Given the description of an element on the screen output the (x, y) to click on. 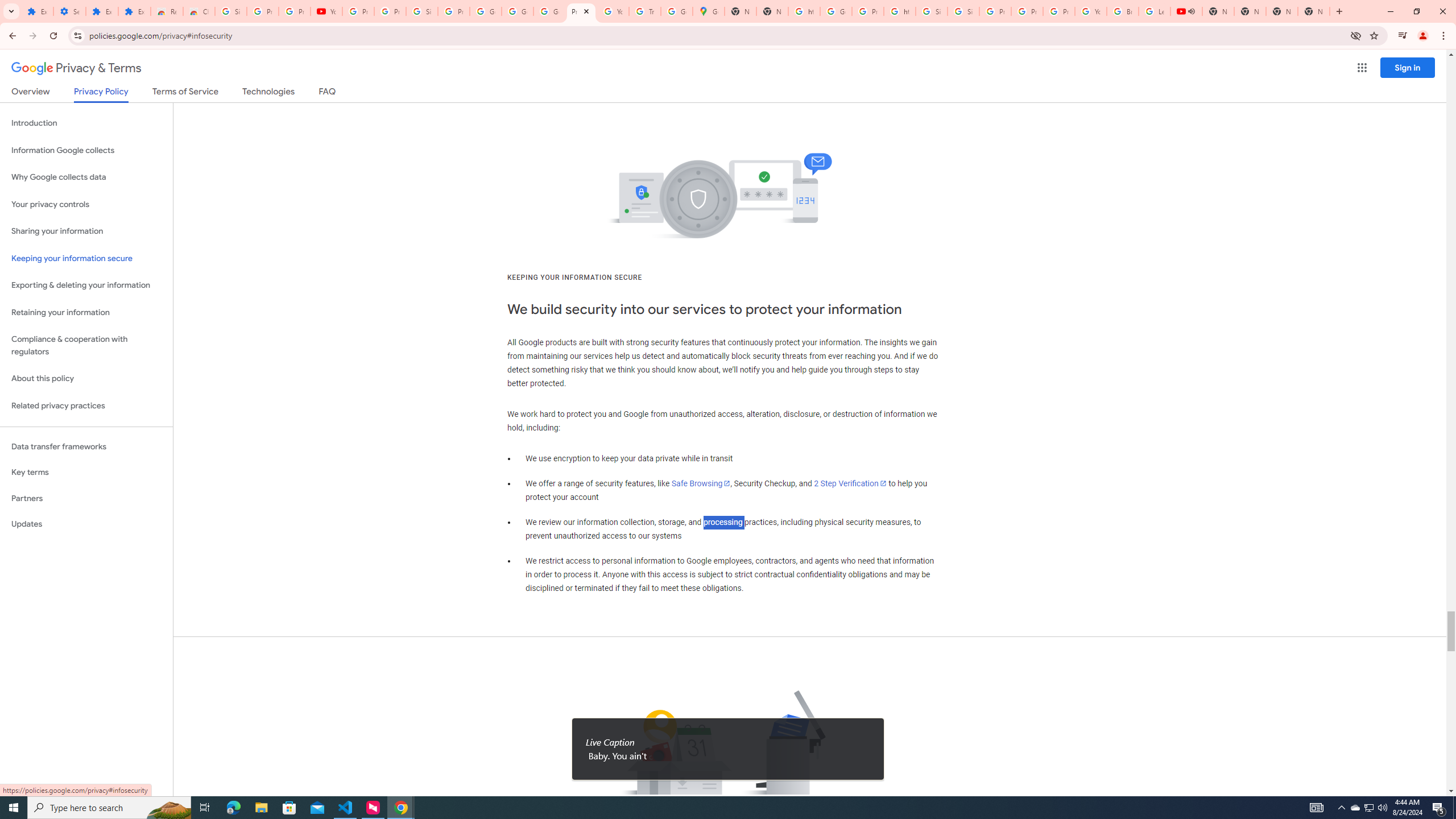
Your privacy controls (86, 204)
Extensions (101, 11)
YouTube (613, 11)
Chrome Web Store - Themes (198, 11)
